Given the description of an element on the screen output the (x, y) to click on. 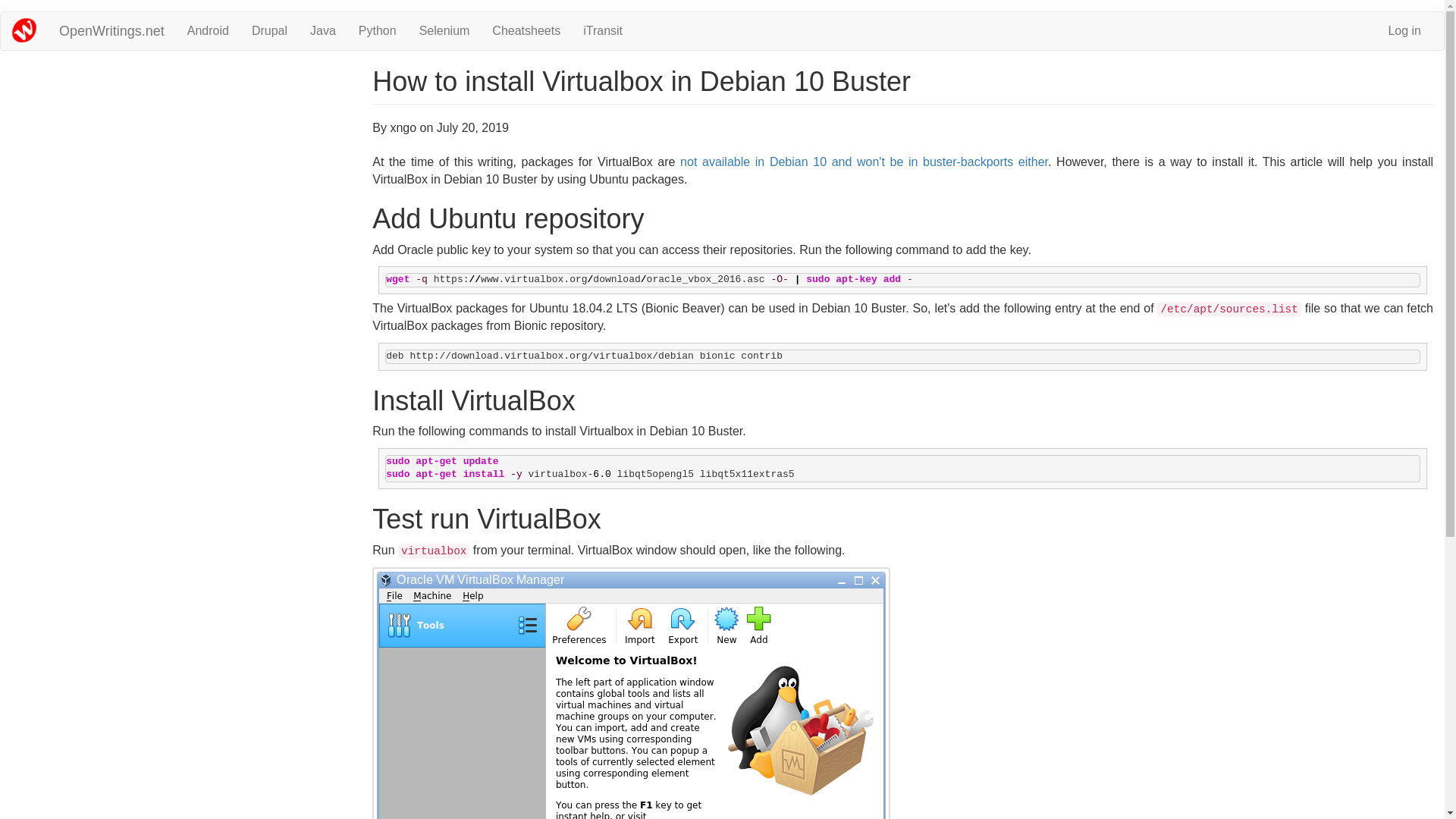
Topics related to Java (322, 30)
Drupal (269, 30)
Java (322, 30)
Topics related to Drupal (269, 30)
Cheatsheets (526, 30)
Selenium (444, 30)
Debian 10 Buster - VirtualBox (630, 693)
Topics related to Python (377, 30)
Advertisement (181, 172)
